Given the description of an element on the screen output the (x, y) to click on. 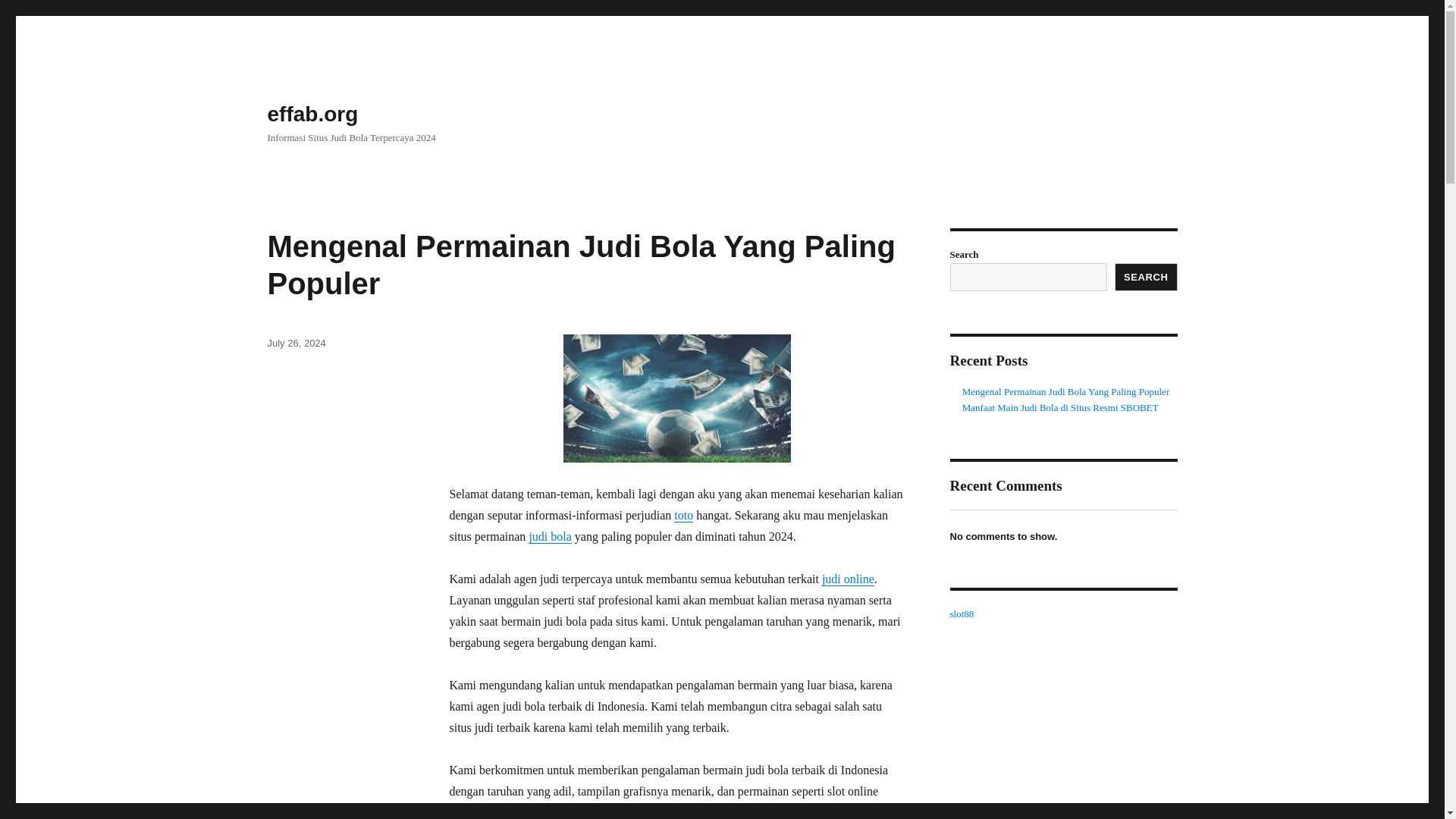
toto (683, 514)
July 26, 2024 (295, 342)
Mengenal Permainan Judi Bola Yang Paling Populer (1065, 391)
slot88 (961, 613)
SEARCH (1146, 276)
Mengenal Permainan Judi Bola Yang Paling Populer (580, 265)
Manfaat Main Judi Bola di Situs Resmi SBOBET (1060, 407)
judi online (848, 578)
judi bola (549, 535)
effab.org (312, 114)
